Given the description of an element on the screen output the (x, y) to click on. 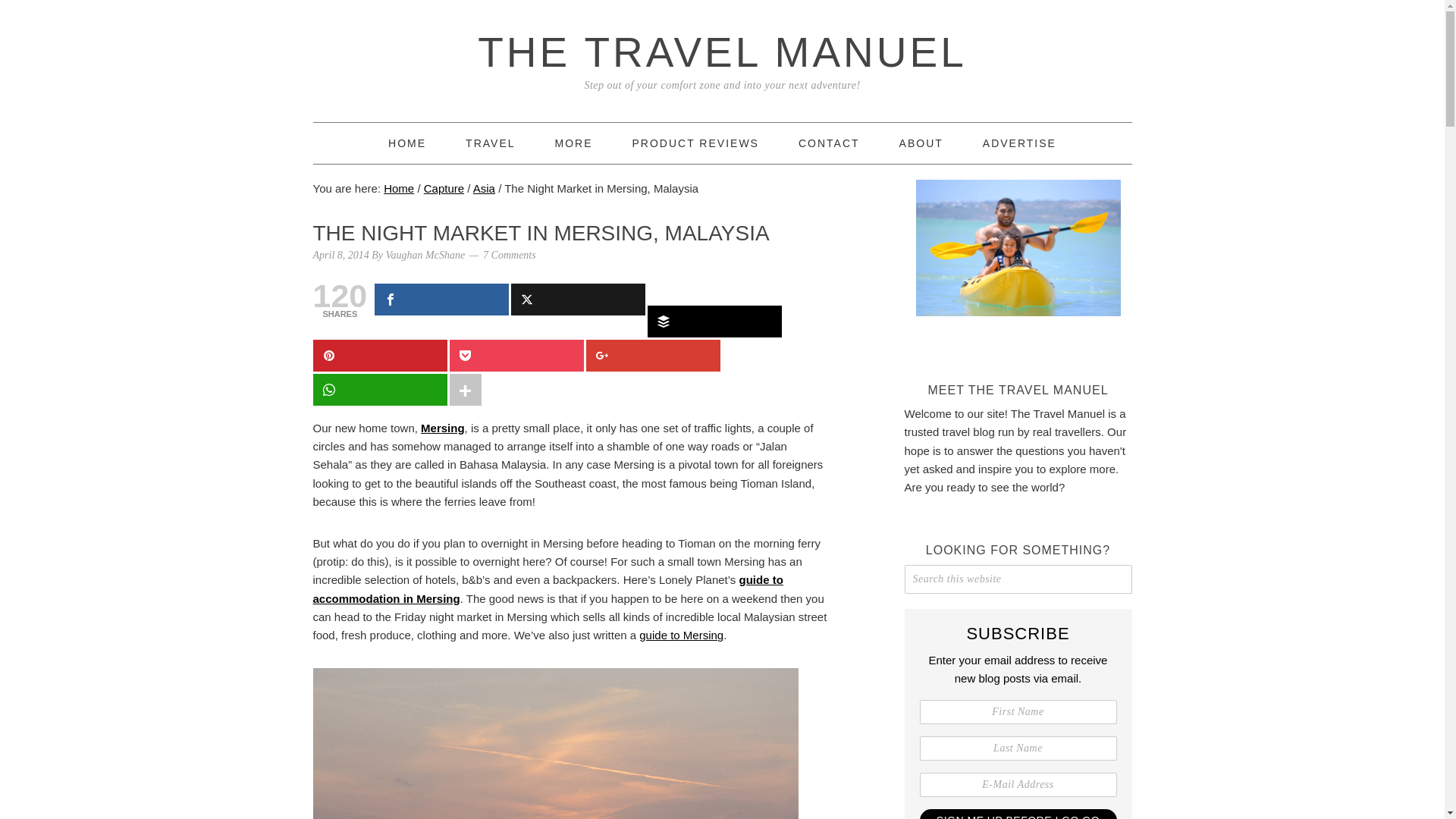
Instagramming Mersing,Malaysia. (442, 427)
7 Comments (509, 255)
TRAVEL (490, 142)
SIGN ME UP BEFORE I GO GO (1017, 814)
ADVERTISE (1019, 142)
Lonely Planet Reviewed Mersing Hotels (548, 588)
Capture (443, 187)
THE TRAVEL MANUEL (721, 52)
Asia (484, 187)
Home (407, 142)
CONTACT (828, 142)
Vaughan McShane (425, 255)
PRODUCT REVIEWS (694, 142)
Facebook (441, 299)
